Given the description of an element on the screen output the (x, y) to click on. 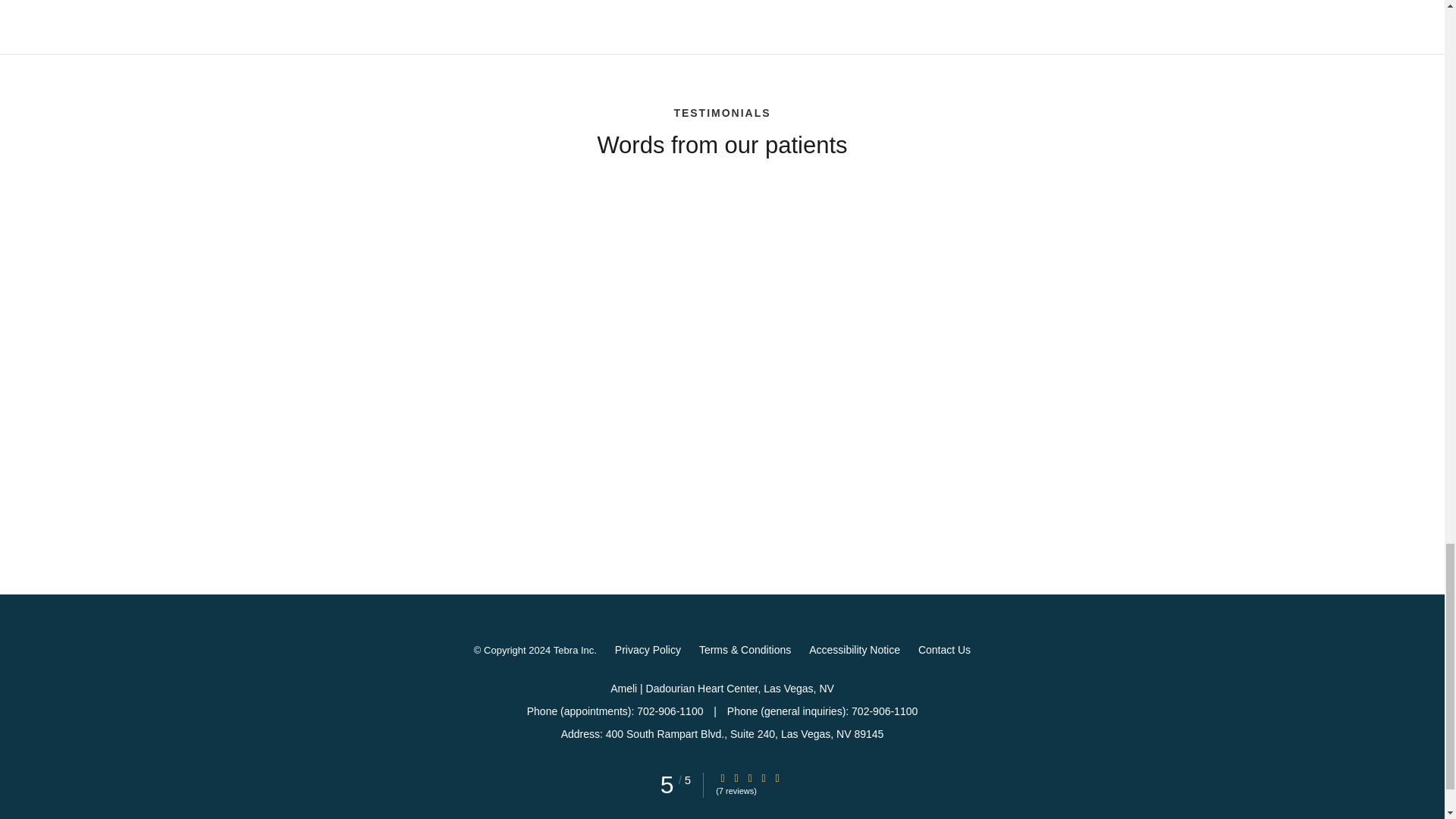
Star Rating (722, 778)
Tebra Inc (573, 650)
Accessibility Notice (854, 649)
Star Rating (763, 778)
View full list of companies (1013, 1)
Star Rating (735, 778)
Star Rating (749, 778)
Privacy Policy (647, 649)
Contact Us (944, 649)
Star Rating (777, 778)
